Given the description of an element on the screen output the (x, y) to click on. 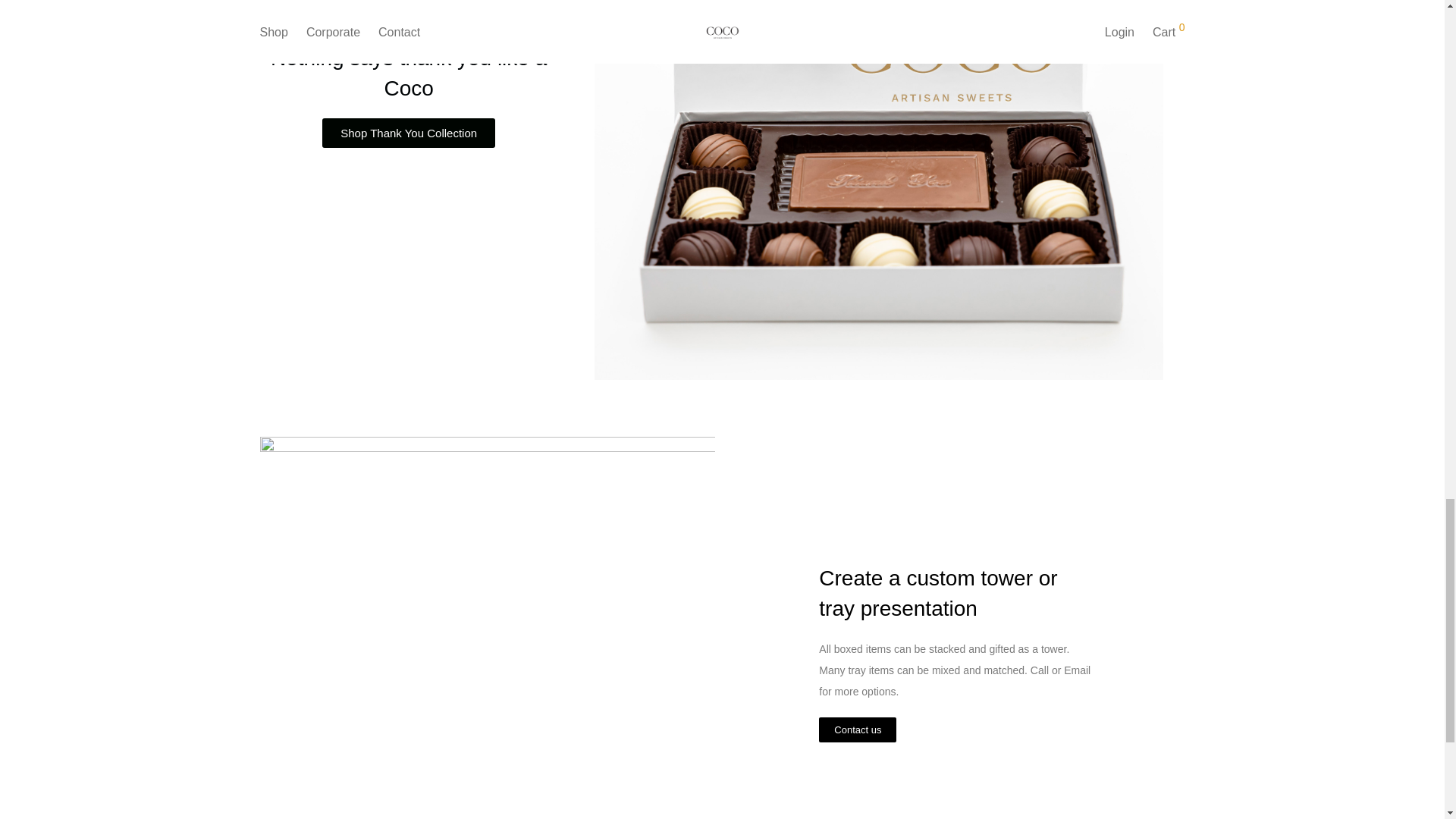
Shop Thank You Collection (408, 132)
Contact us (857, 729)
